Given the description of an element on the screen output the (x, y) to click on. 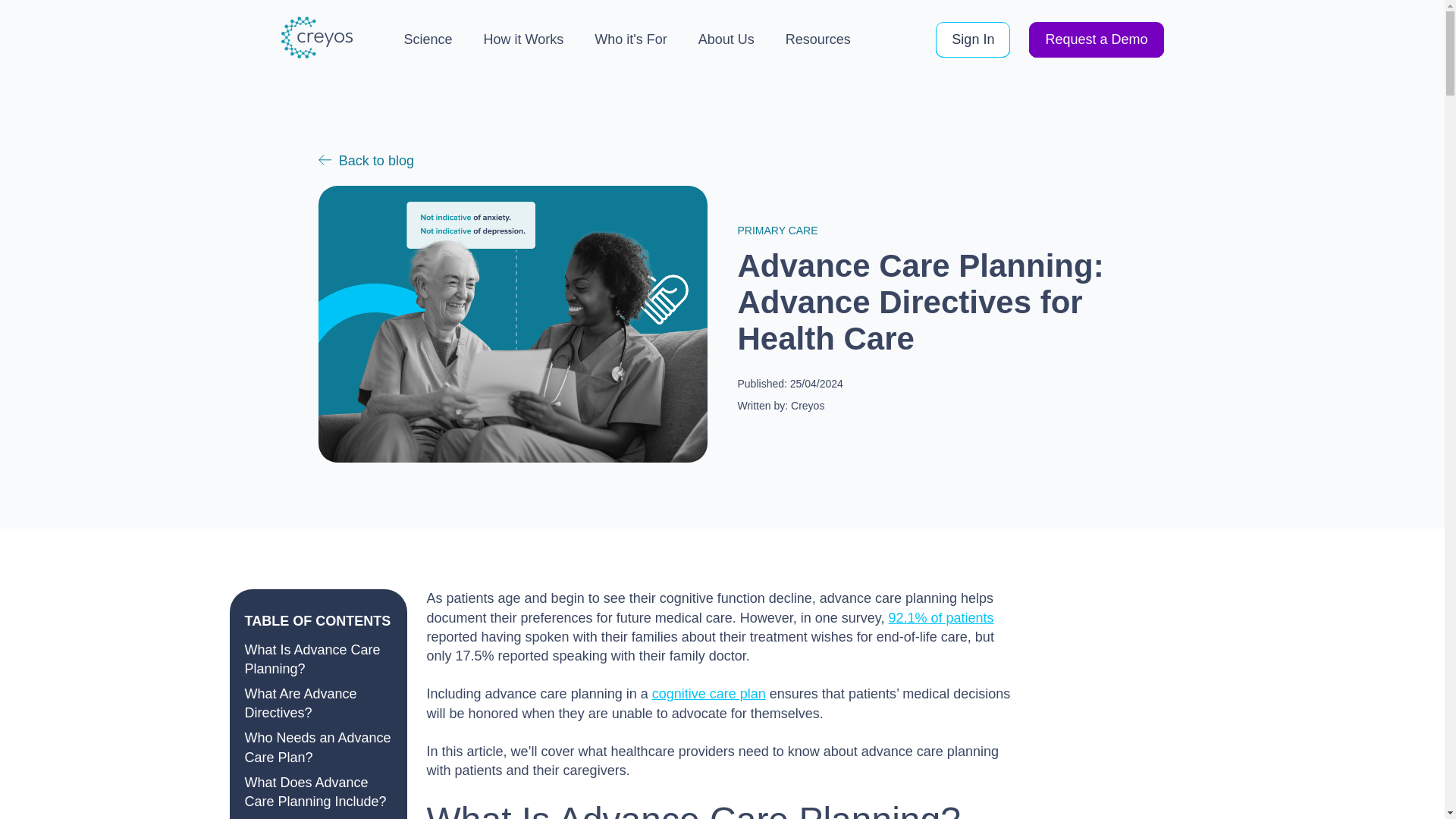
Who it's For (630, 38)
PRIMARY CARE (776, 230)
Request a Demo (1096, 39)
About Us (726, 38)
How it Works (523, 38)
Sign In (973, 39)
Back to blog (365, 160)
Resources (818, 38)
Science (427, 38)
What Are Advance Directives? (300, 703)
